Given the description of an element on the screen output the (x, y) to click on. 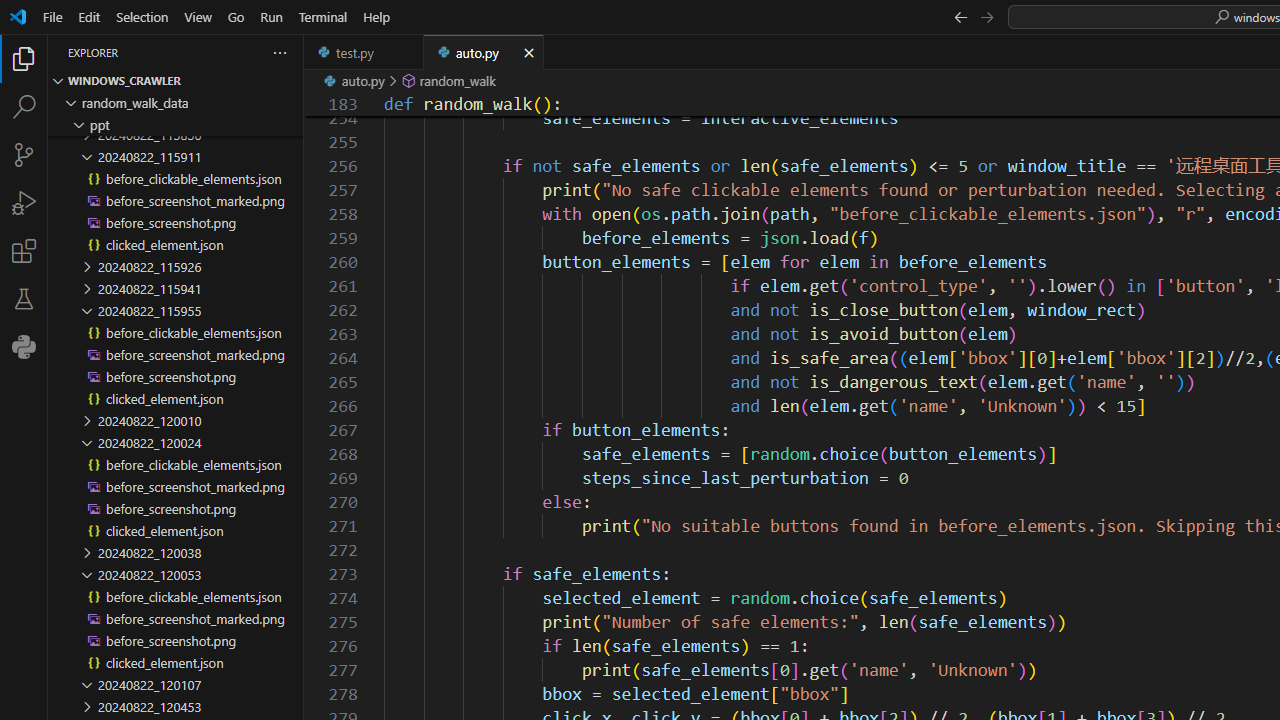
Extensions (Ctrl+Shift+X) (24, 250)
File (52, 16)
Testing (24, 299)
Edit (89, 16)
Explorer (Ctrl+Shift+E) (24, 58)
Terminal (322, 16)
Go (235, 16)
Selection (141, 16)
Explorer Section: windows_crawler (175, 80)
Source Control (Ctrl+Shift+G) (24, 155)
Go Back (Alt+LeftArrow) (960, 16)
Close (Ctrl+F4) (528, 52)
Run and Debug (Ctrl+Shift+D) (24, 202)
